Given the description of an element on the screen output the (x, y) to click on. 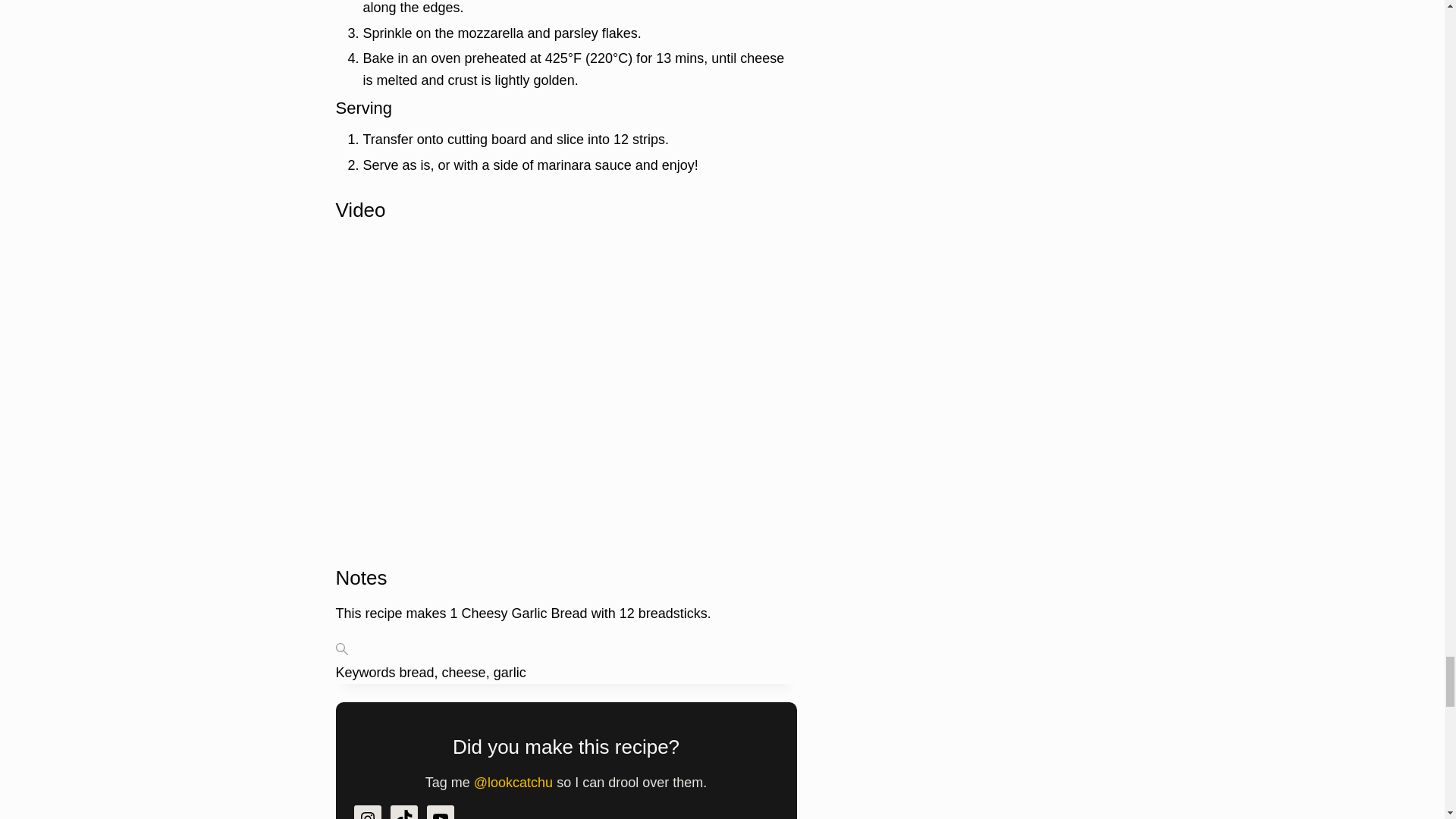
YouTube (439, 812)
Instagram (366, 812)
TikTok (403, 812)
